Given the description of an element on the screen output the (x, y) to click on. 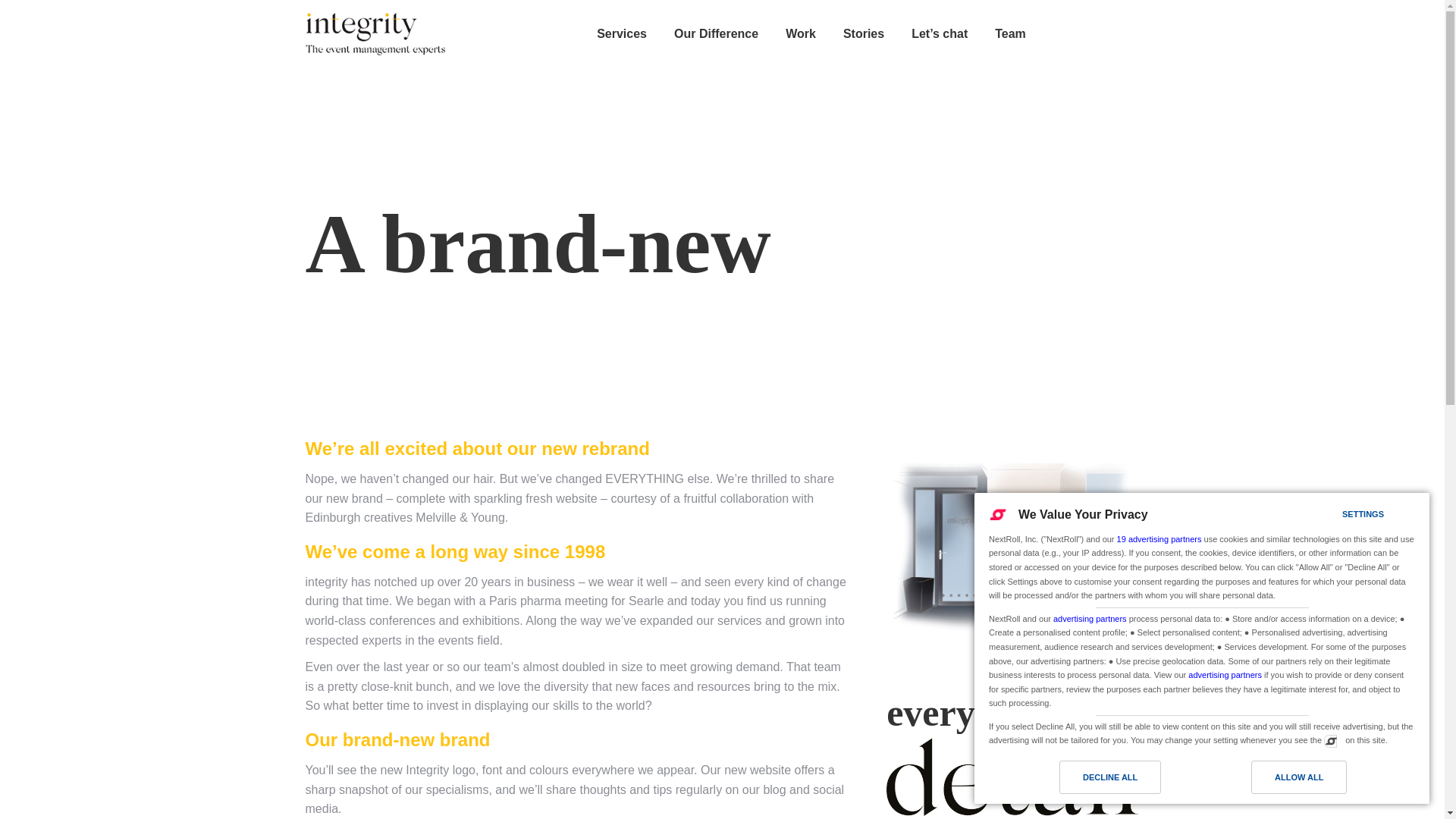
Work (800, 33)
Manage consent preferences (1330, 740)
Team (1010, 33)
Stories (863, 33)
Our Difference (716, 33)
Services (621, 33)
